Given the description of an element on the screen output the (x, y) to click on. 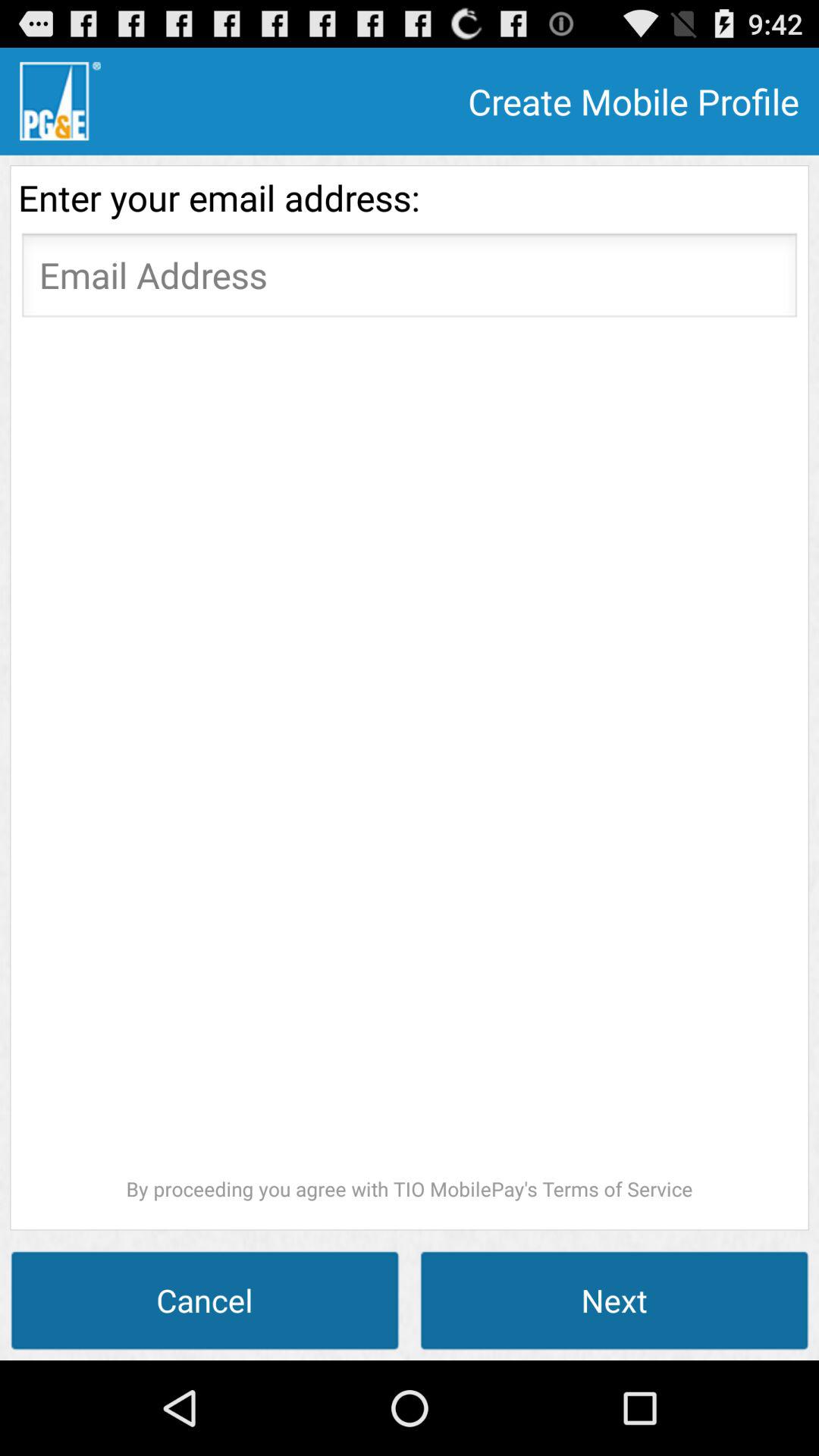
turn on the item below the by proceeding you item (613, 1300)
